Given the description of an element on the screen output the (x, y) to click on. 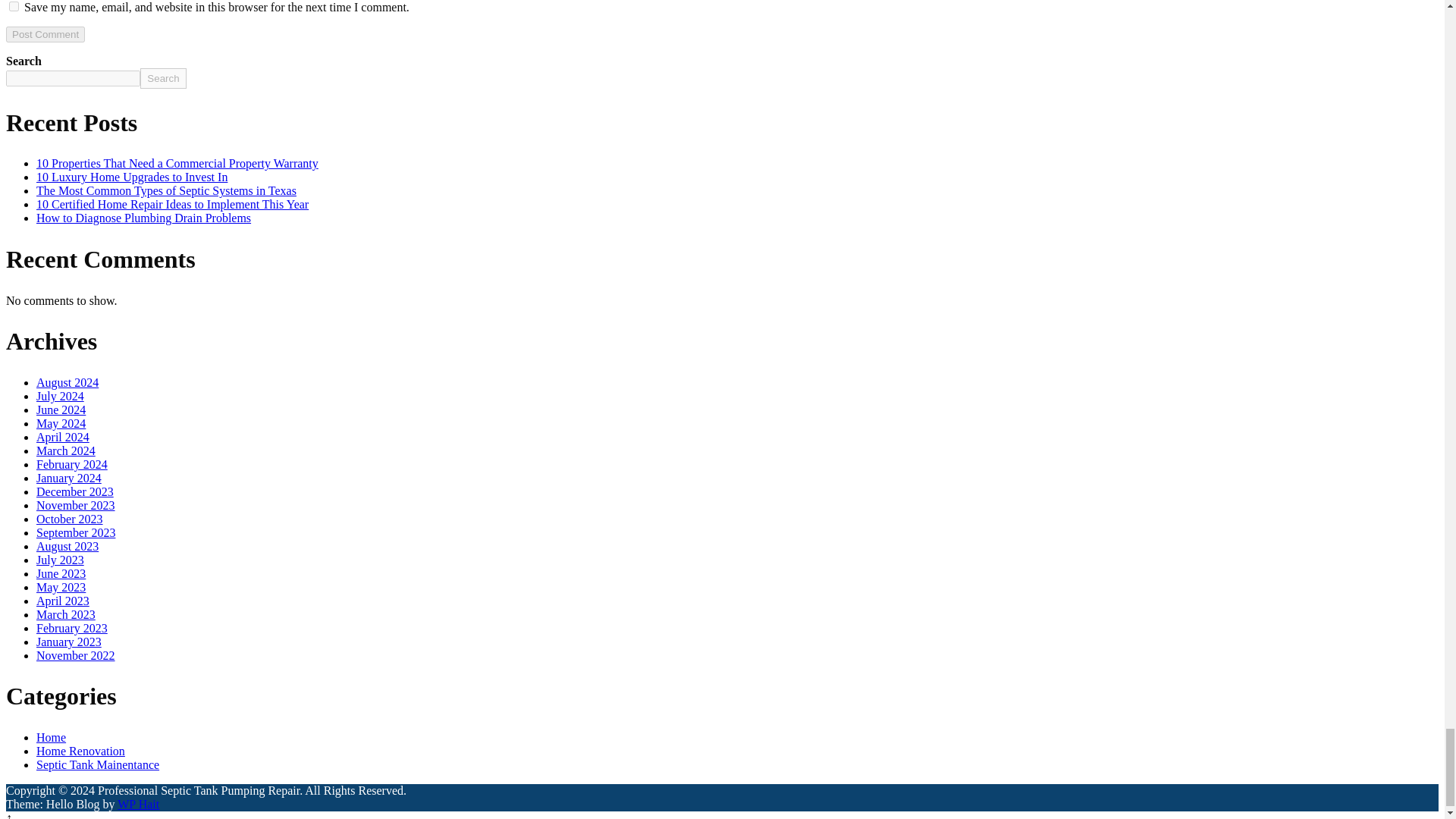
Post Comment (44, 34)
10 Properties That Need a Commercial Property Warranty (177, 163)
July 2024 (60, 395)
The Most Common Types of Septic Systems in Texas (166, 190)
How to Diagnose Plumbing Drain Problems (143, 217)
May 2024 (60, 422)
10 Certified Home Repair Ideas to Implement This Year (172, 204)
Search (162, 77)
August 2024 (67, 382)
June 2024 (60, 409)
